Given the description of an element on the screen output the (x, y) to click on. 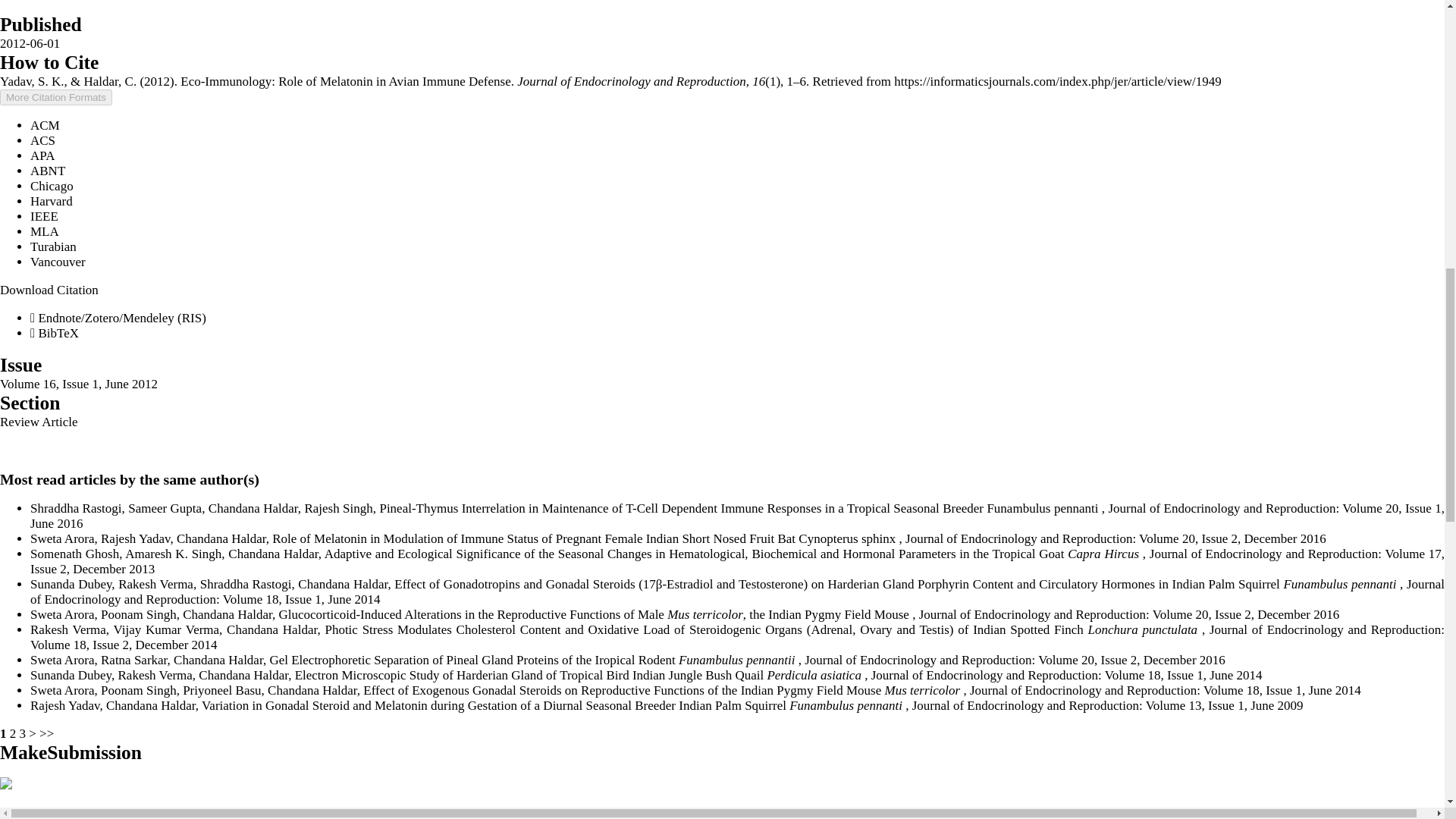
ACS (42, 140)
Harvard (51, 201)
Volume 16, Issue 1, June 2012 (78, 383)
MLA (44, 231)
APA (42, 155)
BibTeX (54, 332)
ABNT (47, 170)
More Citation Formats (56, 97)
